Given the description of an element on the screen output the (x, y) to click on. 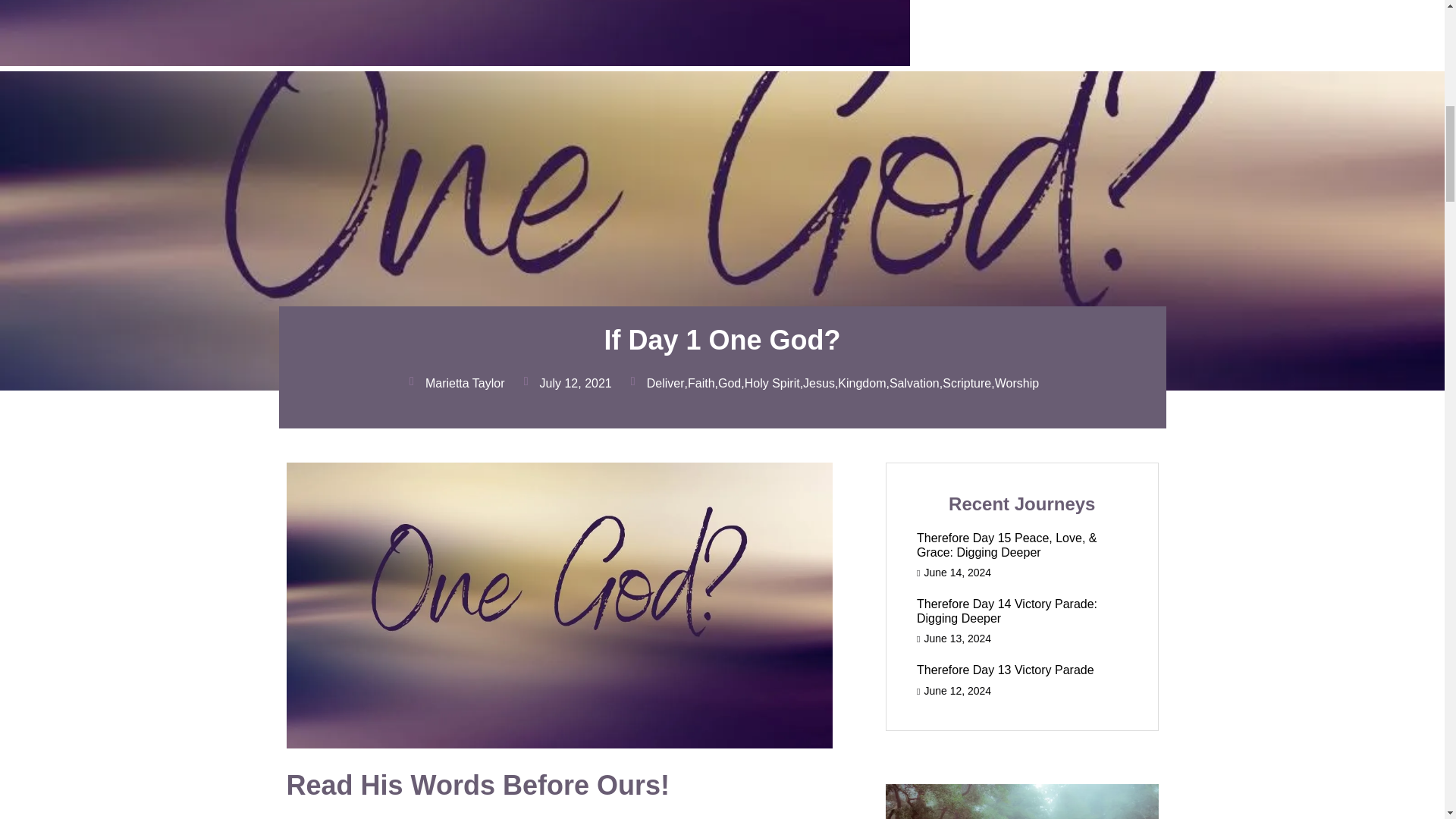
If Day 1 One God? (455, 61)
Read His Words Before Ours! (477, 784)
If Day 1 One God? (722, 339)
